Given the description of an element on the screen output the (x, y) to click on. 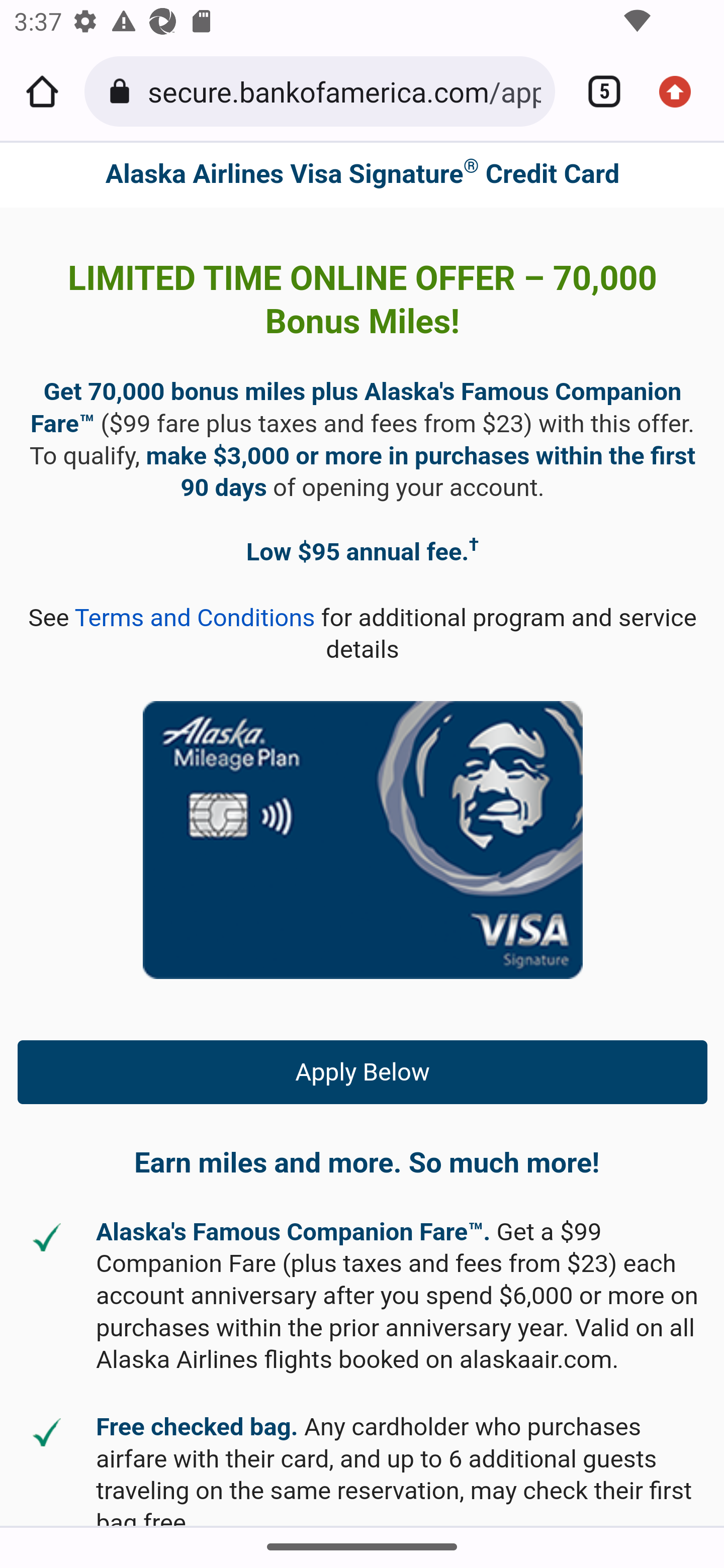
Home (42, 91)
Connection is secure (122, 91)
Switch or close tabs (597, 91)
Update available. More options (681, 91)
Terms and Conditions (195, 617)
Apply Below (362, 1071)
